Given the description of an element on the screen output the (x, y) to click on. 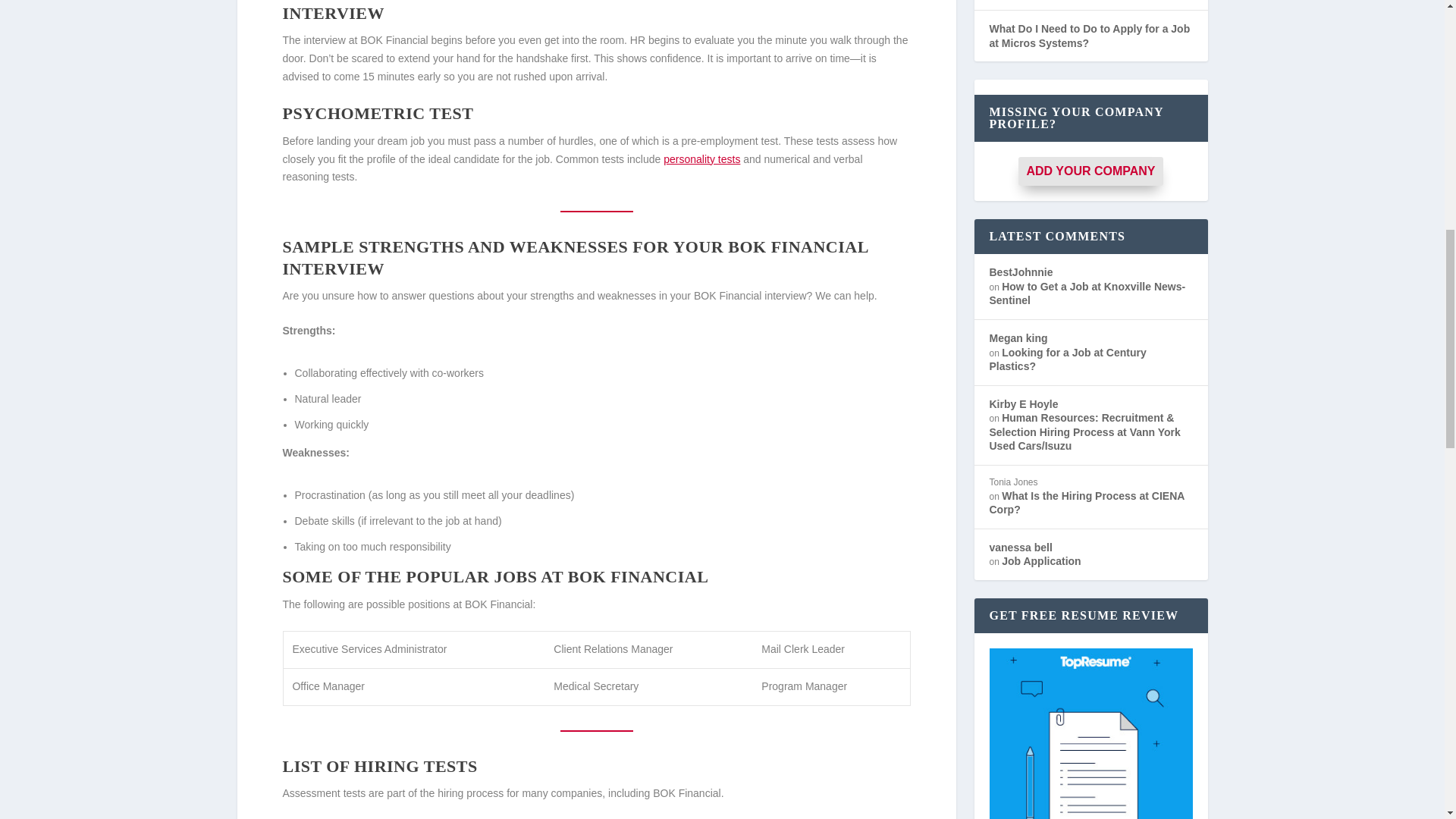
personality tests (701, 159)
personality tests (701, 159)
